Given the description of an element on the screen output the (x, y) to click on. 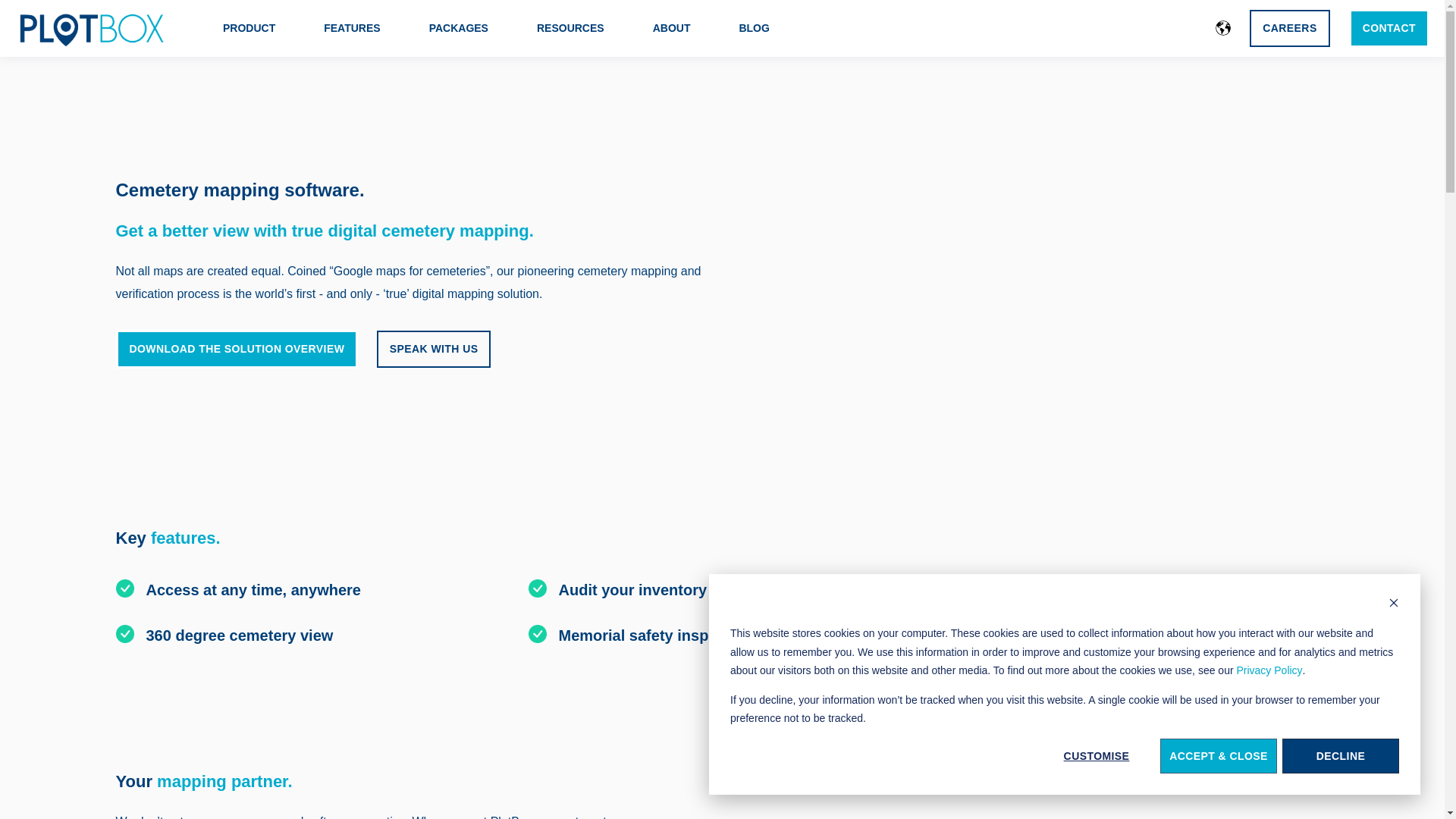
PRODUCT (248, 28)
PACKAGES (458, 28)
FEATURES (351, 28)
RESOURCES (570, 28)
